Given the description of an element on the screen output the (x, y) to click on. 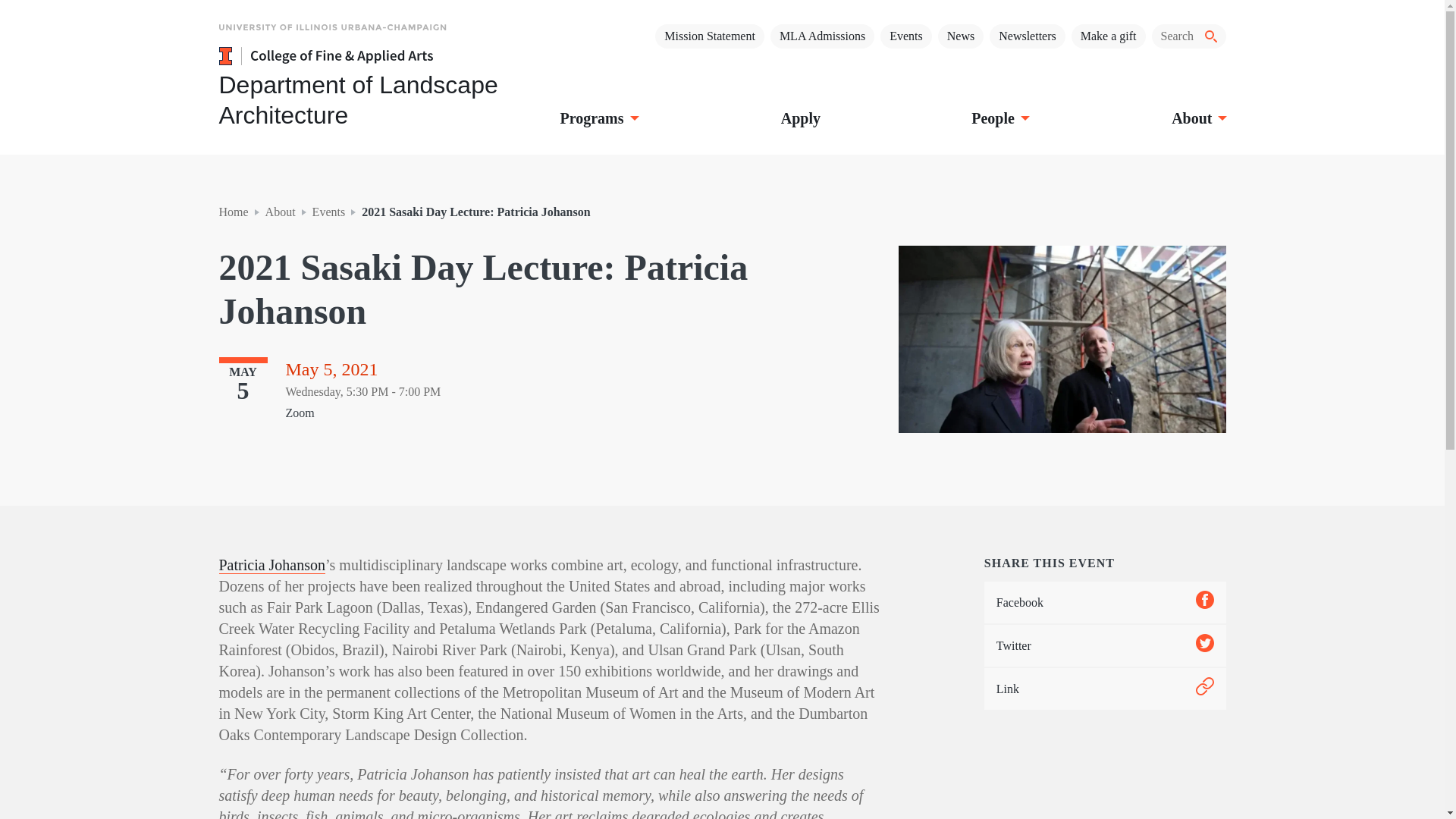
About (1197, 117)
MLA Admissions (822, 36)
News (960, 36)
Apply (800, 117)
Make a gift (1108, 36)
Events (905, 36)
Newsletters (1027, 36)
People (999, 117)
